Given the description of an element on the screen output the (x, y) to click on. 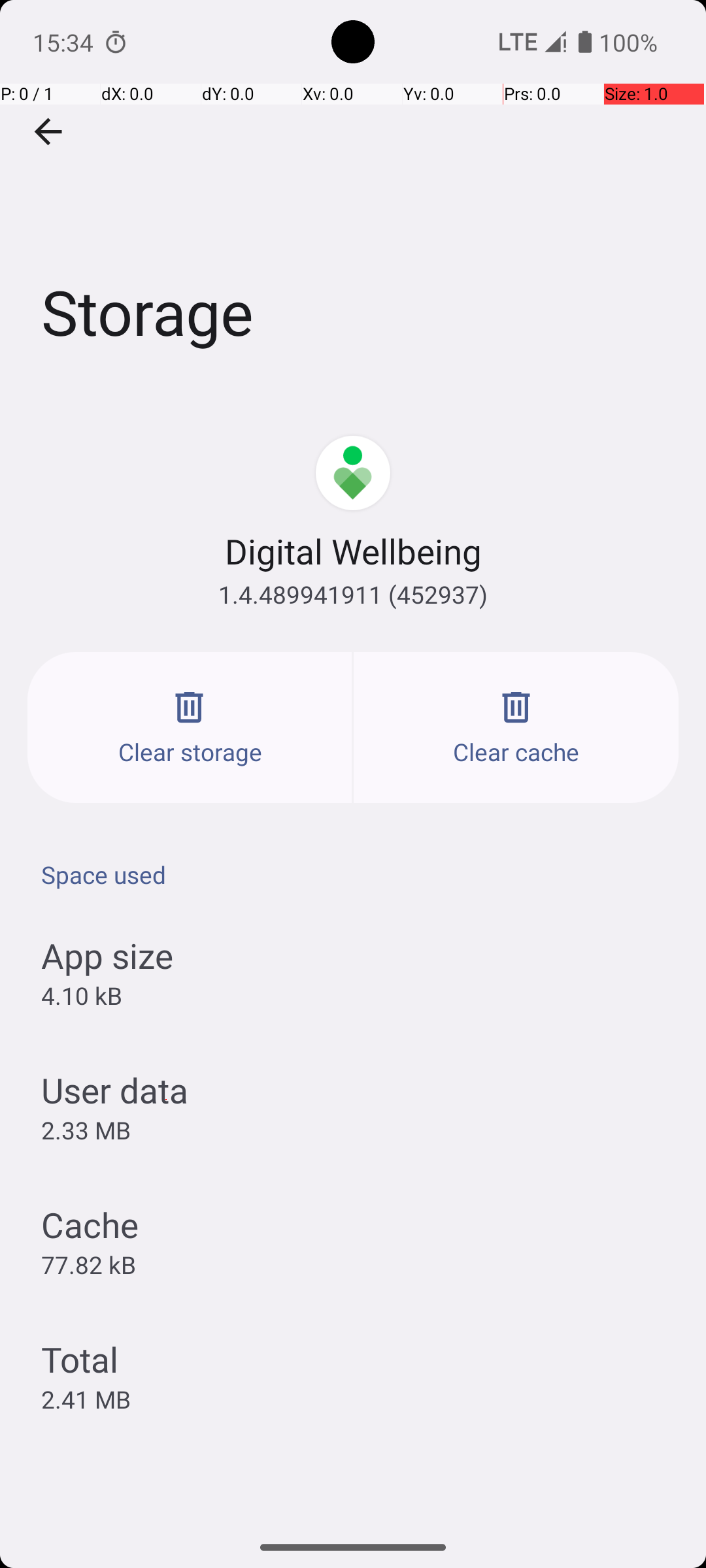
Digital Wellbeing Element type: android.widget.TextView (352, 550)
1.4.489941911 (452937) Element type: android.widget.TextView (352, 593)
Clear storage Element type: android.widget.Button (189, 727)
Clear cache Element type: android.widget.Button (515, 727)
Space used Element type: android.widget.TextView (359, 874)
App size Element type: android.widget.TextView (107, 955)
4.10 kB Element type: android.widget.TextView (81, 995)
User data Element type: android.widget.TextView (114, 1089)
2.33 MB Element type: android.widget.TextView (85, 1129)
Cache Element type: android.widget.TextView (89, 1224)
77.82 kB Element type: android.widget.TextView (88, 1264)
Total Element type: android.widget.TextView (79, 1359)
2.41 MB Element type: android.widget.TextView (85, 1398)
